Given the description of an element on the screen output the (x, y) to click on. 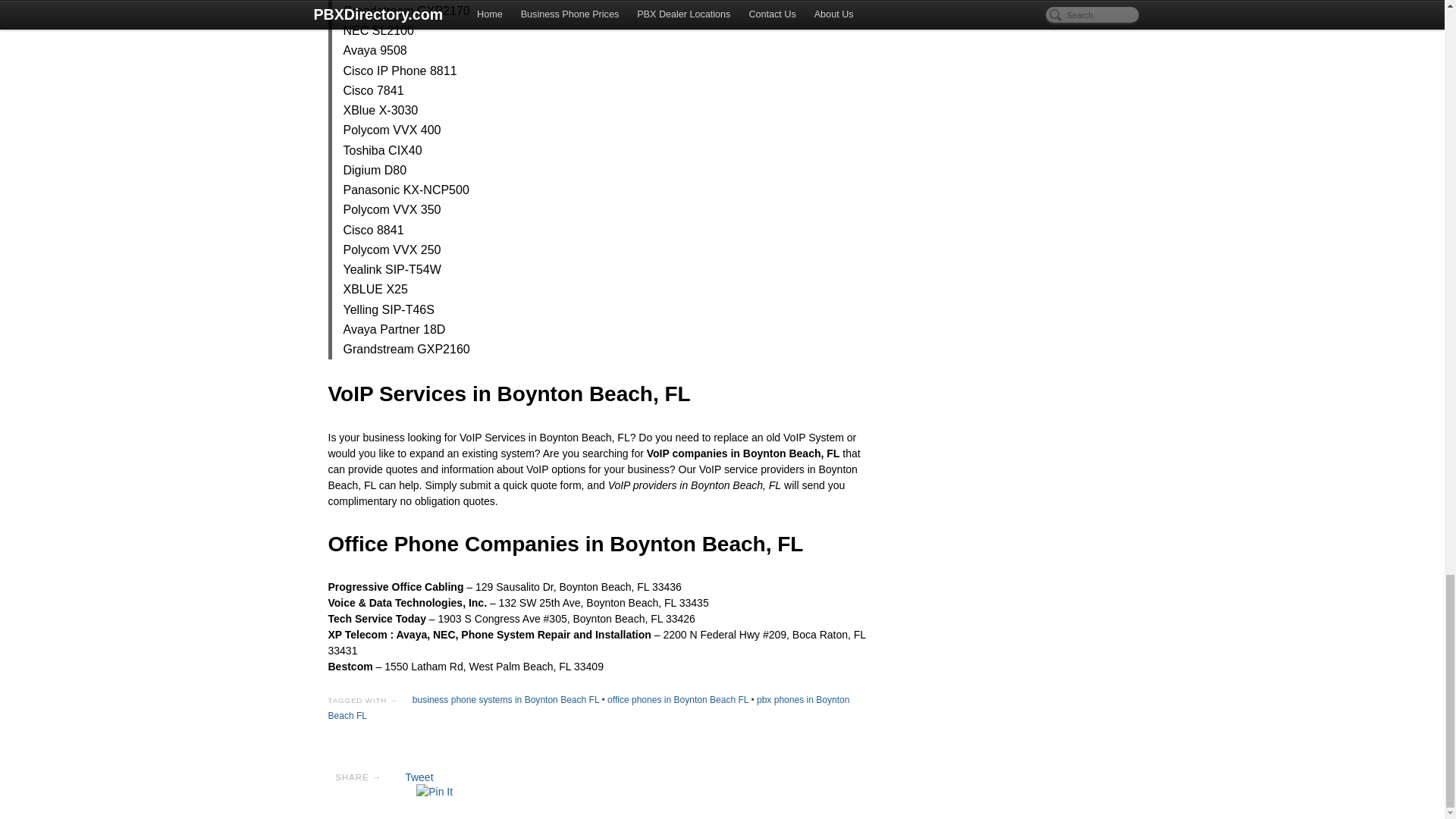
Pin It (434, 791)
Tweet (418, 776)
pbx phones in Boynton Beach FL (587, 707)
office phones in Boynton Beach FL (677, 699)
business phone systems in Boynton Beach FL (505, 699)
